Given the description of an element on the screen output the (x, y) to click on. 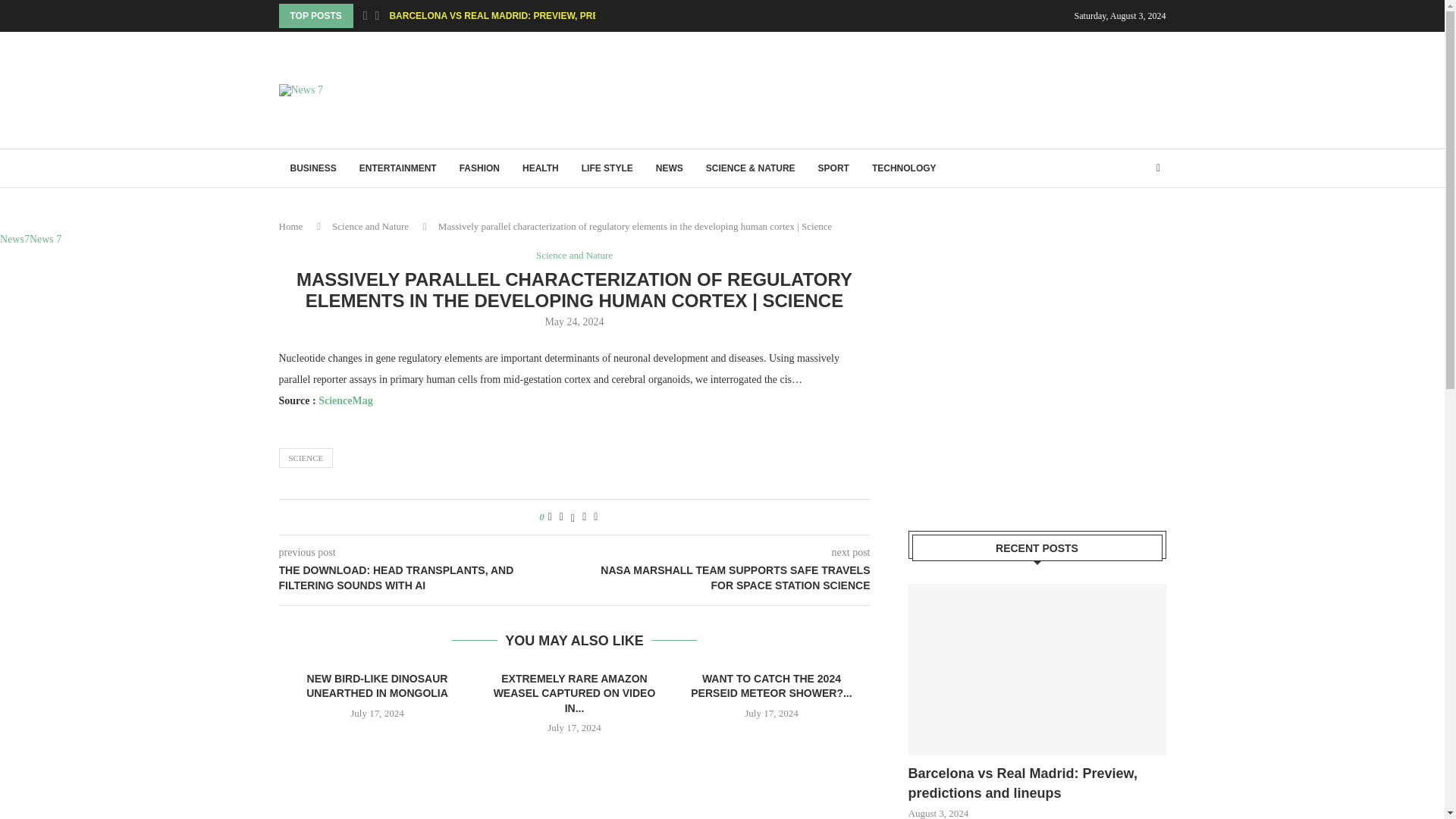
HEALTH (540, 168)
SPORT (833, 168)
BARCELONA VS REAL MADRID: PREVIEW, PREDICTIONS AND LINEUPS (547, 15)
BUSINESS (313, 168)
Barcelona vs Real Madrid: Preview, predictions and lineups (1037, 669)
Barcelona vs Real Madrid: Preview, predictions and lineups (1037, 783)
FASHION (479, 168)
LIFE STYLE (607, 168)
TECHNOLOGY (903, 168)
NEWS (669, 168)
ENTERTAINMENT (397, 168)
